Given the description of an element on the screen output the (x, y) to click on. 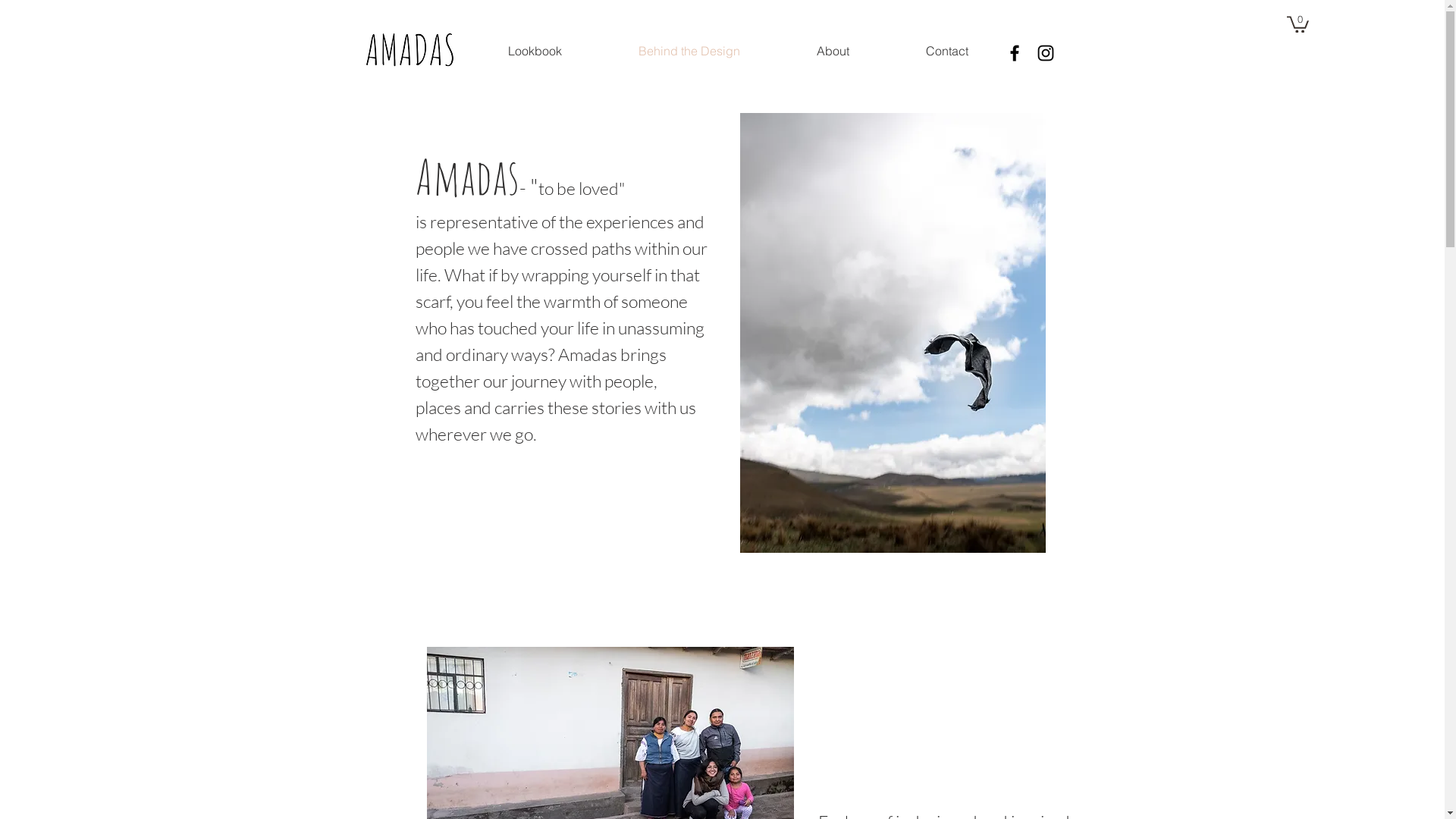
Behind the Design Element type: text (689, 50)
Lookbook Element type: text (535, 50)
About Element type: text (832, 50)
Contact Element type: text (946, 50)
0 Element type: text (1297, 23)
